Given the description of an element on the screen output the (x, y) to click on. 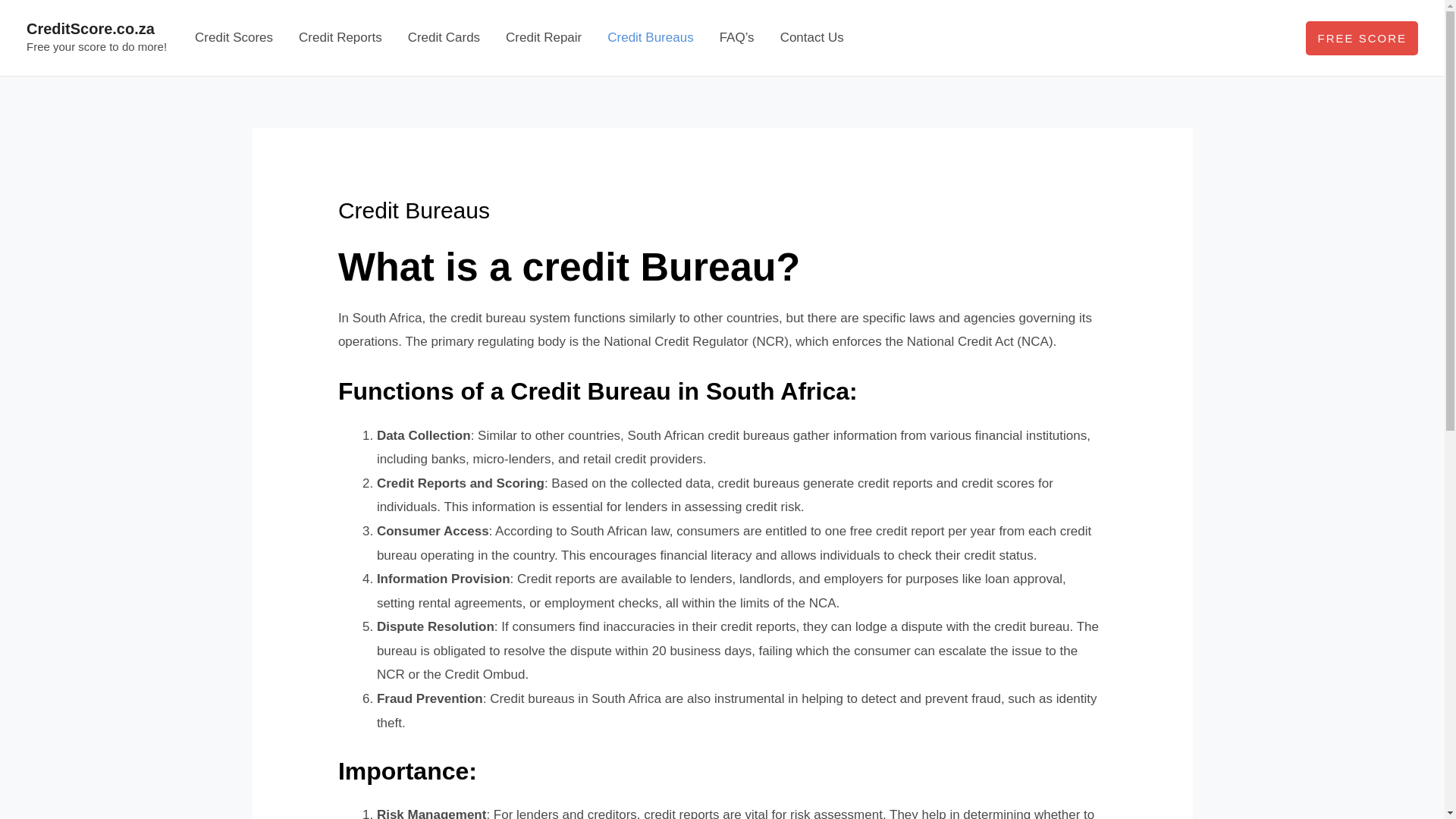
Credit Scores (233, 38)
FREE SCORE (1362, 38)
Credit Bureaus (650, 38)
Credit Cards (443, 38)
Contact Us (812, 38)
Credit Reports (339, 38)
Credit Repair (543, 38)
CreditScore.co.za (90, 28)
